Given the description of an element on the screen output the (x, y) to click on. 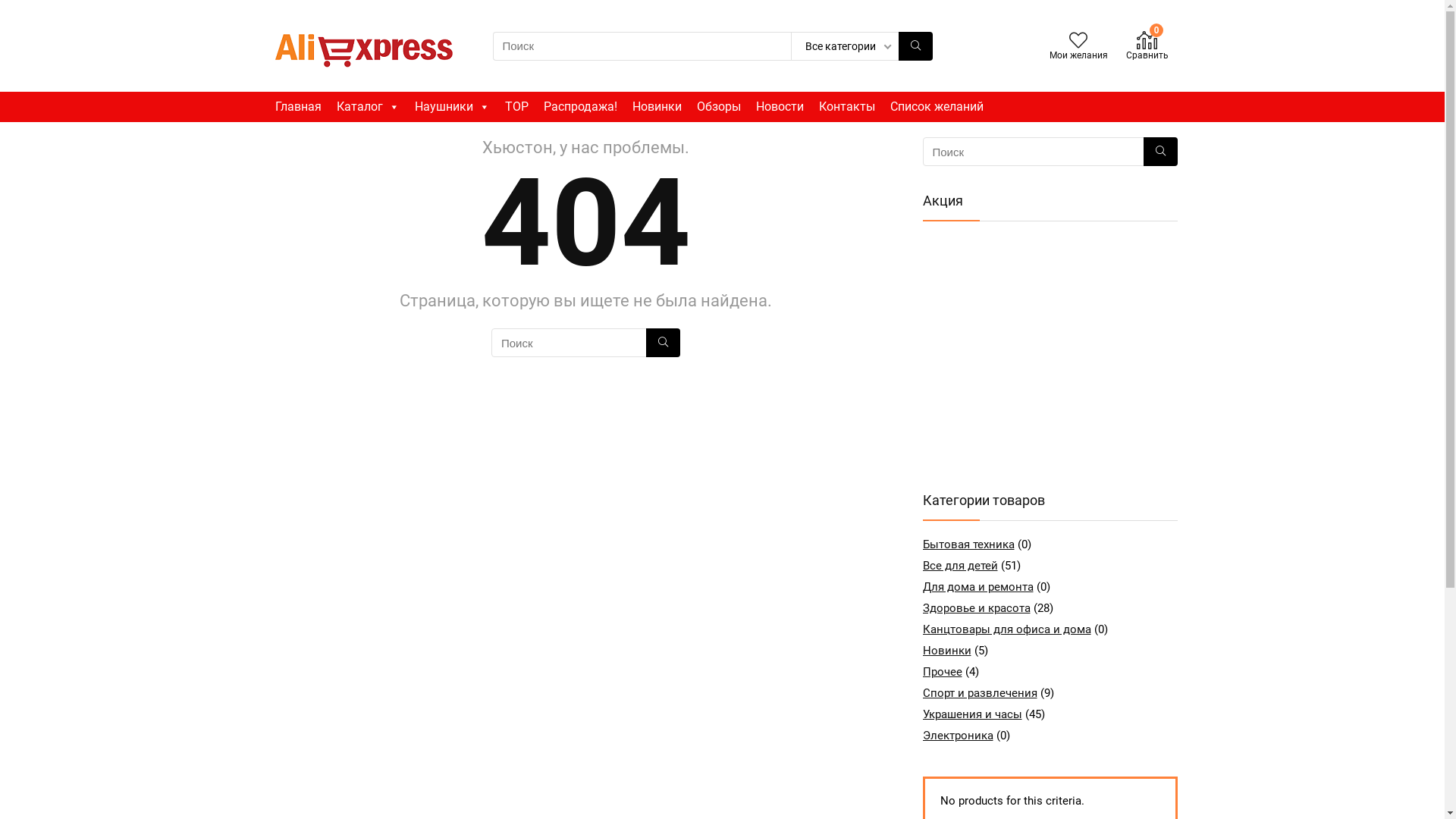
TOP Element type: text (516, 106)
